Given the description of an element on the screen output the (x, y) to click on. 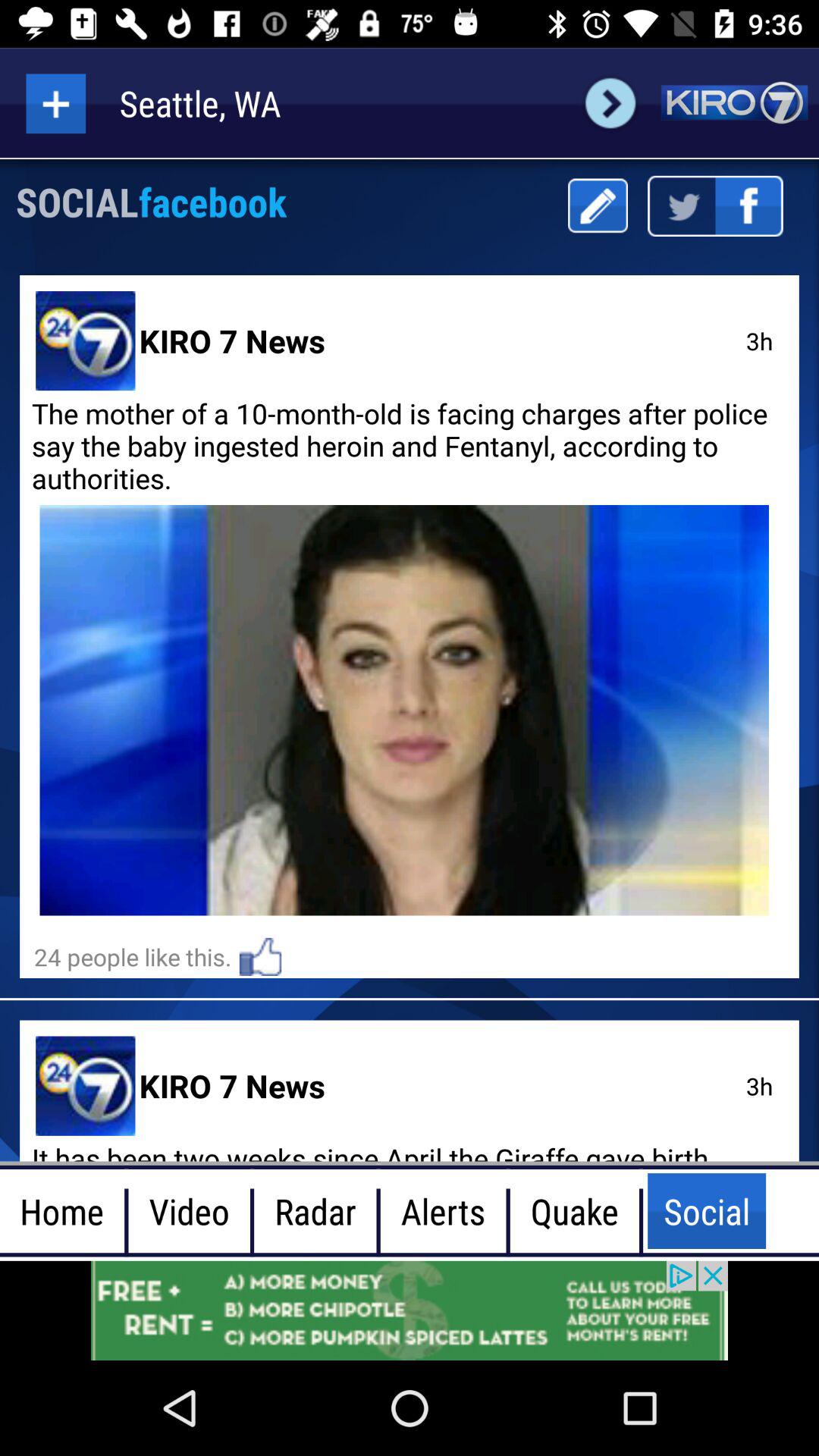
forward option (610, 103)
